Given the description of an element on the screen output the (x, y) to click on. 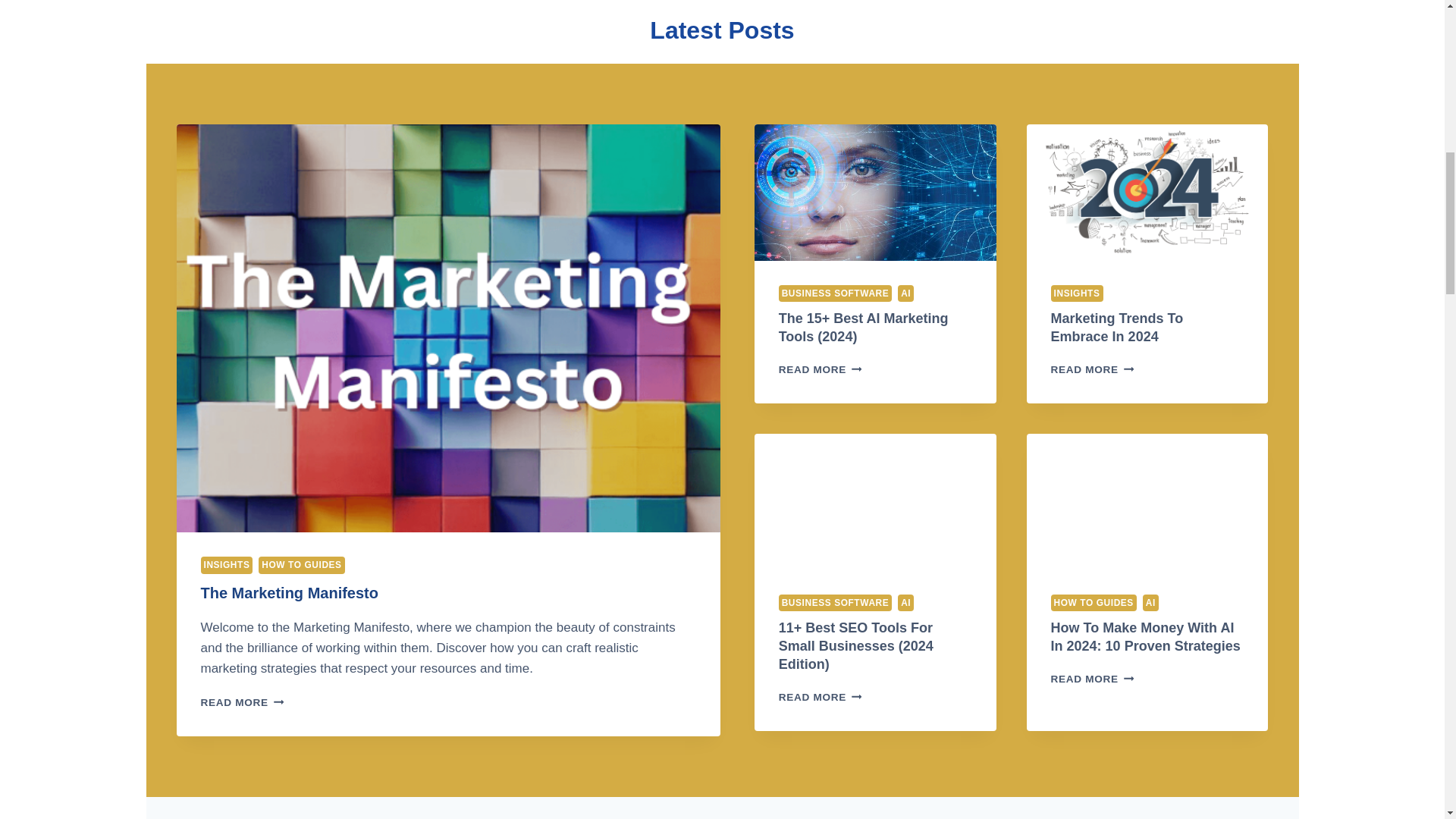
The Marketing Manifesto (288, 592)
How To Make Money With AI In 2024: 10 Proven Strategies (1145, 636)
HOW TO GUIDES (1094, 602)
Marketing Trends To Embrace In 2024 (1117, 327)
AI (906, 293)
BUSINESS SOFTWARE (835, 602)
INSIGHTS (241, 702)
INSIGHTS (1077, 293)
